Given the description of an element on the screen output the (x, y) to click on. 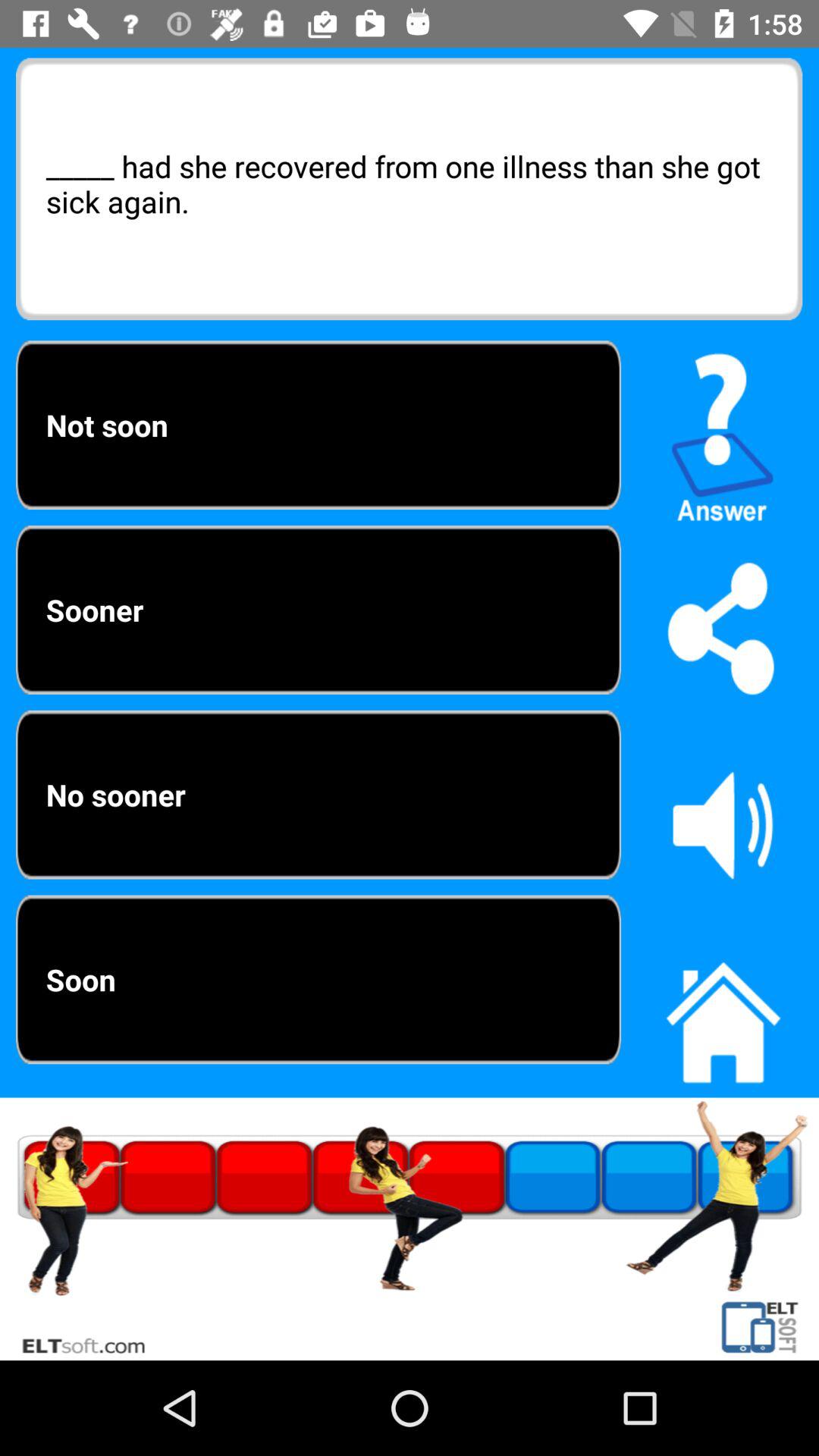
go to homepage (723, 1013)
